Given the description of an element on the screen output the (x, y) to click on. 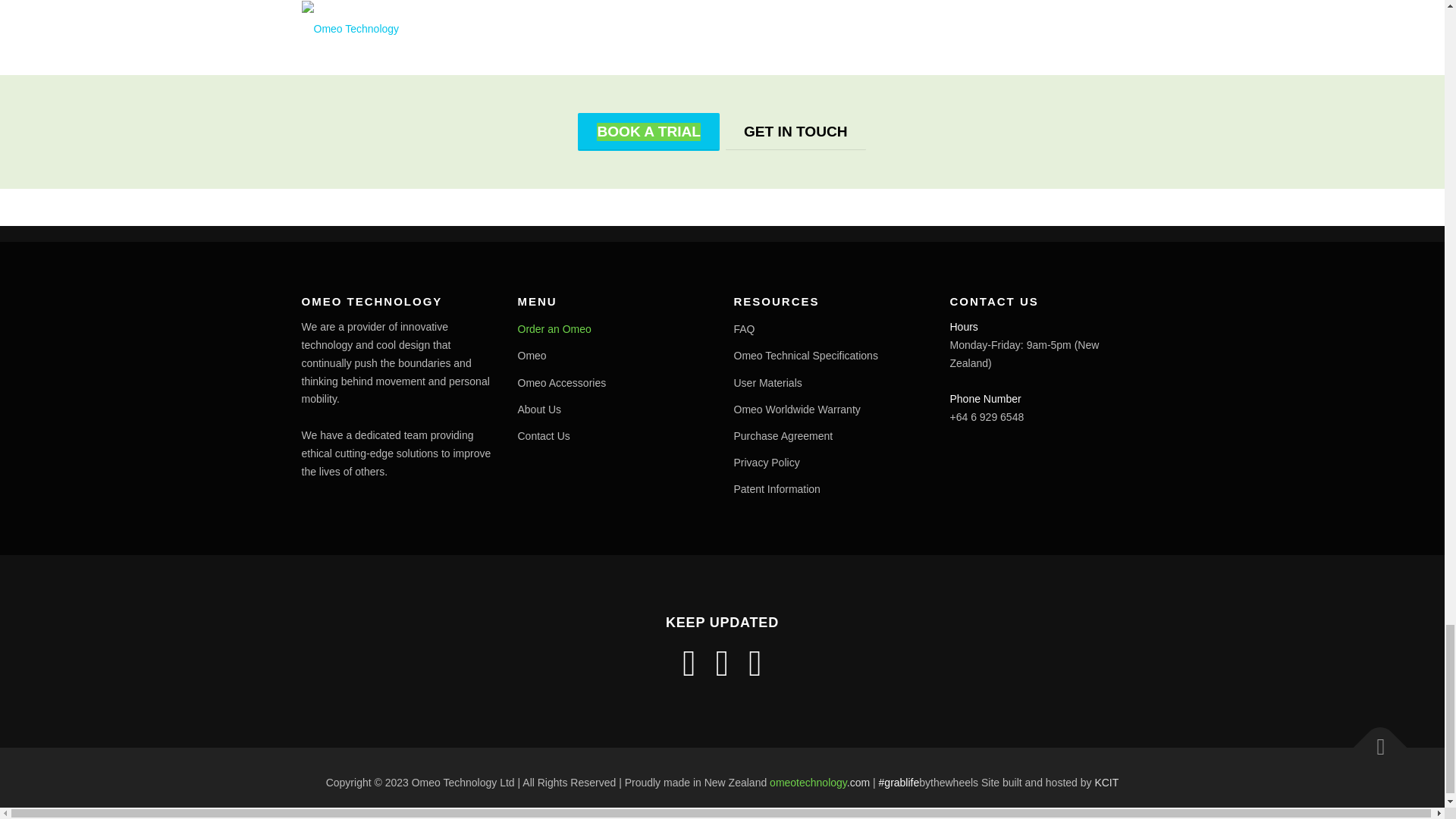
Contact Us (542, 435)
Privacy Policy (766, 462)
FAQ (744, 328)
BOOK A TRIAL (648, 131)
Back To Top (1372, 740)
About Us (538, 409)
omeotechnology.com (819, 782)
Omeo (531, 355)
User Materials (767, 382)
Omeo Accessories (560, 382)
